Given the description of an element on the screen output the (x, y) to click on. 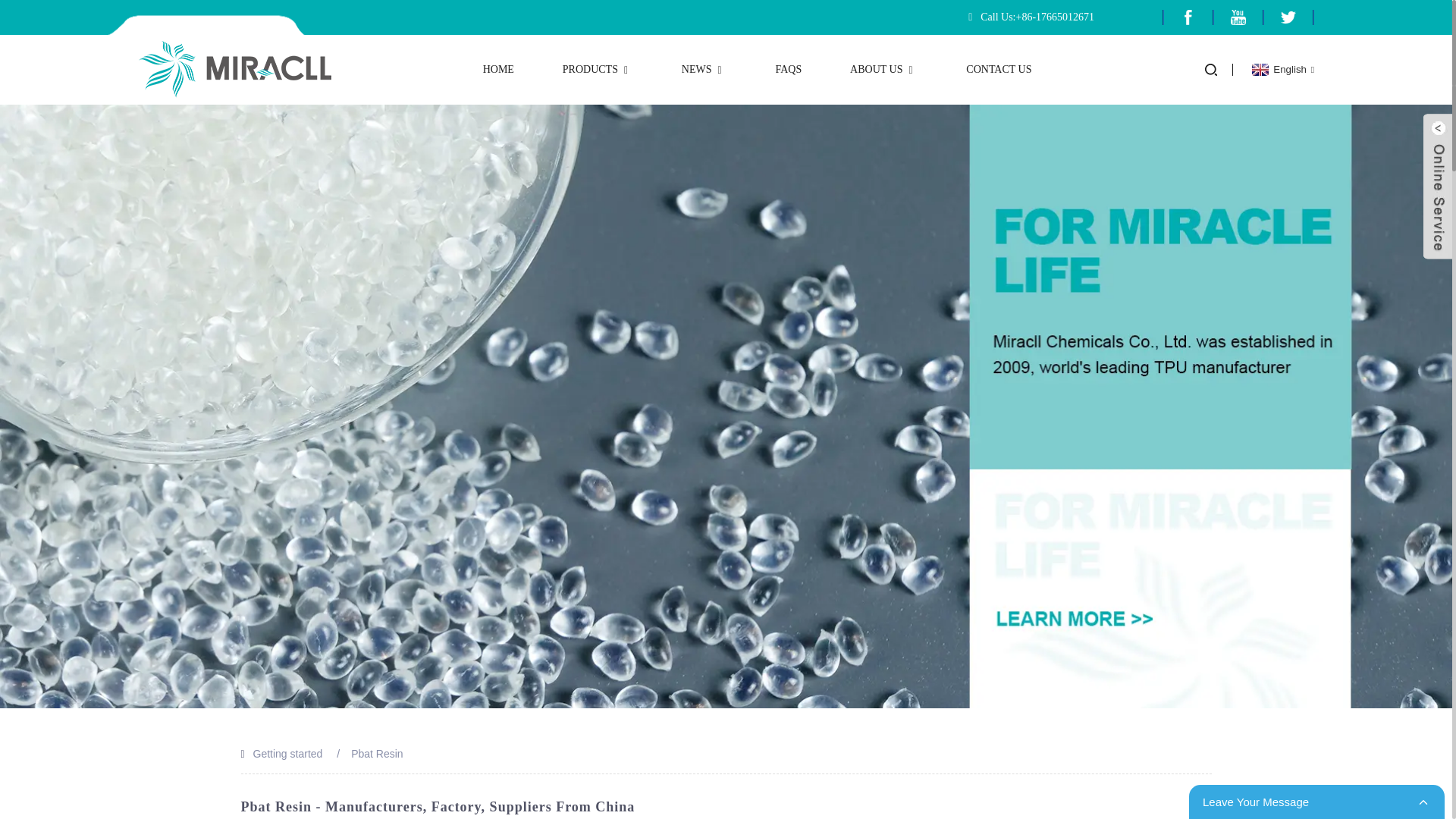
HOME (498, 69)
PRODUCTS (597, 69)
